Given the description of an element on the screen output the (x, y) to click on. 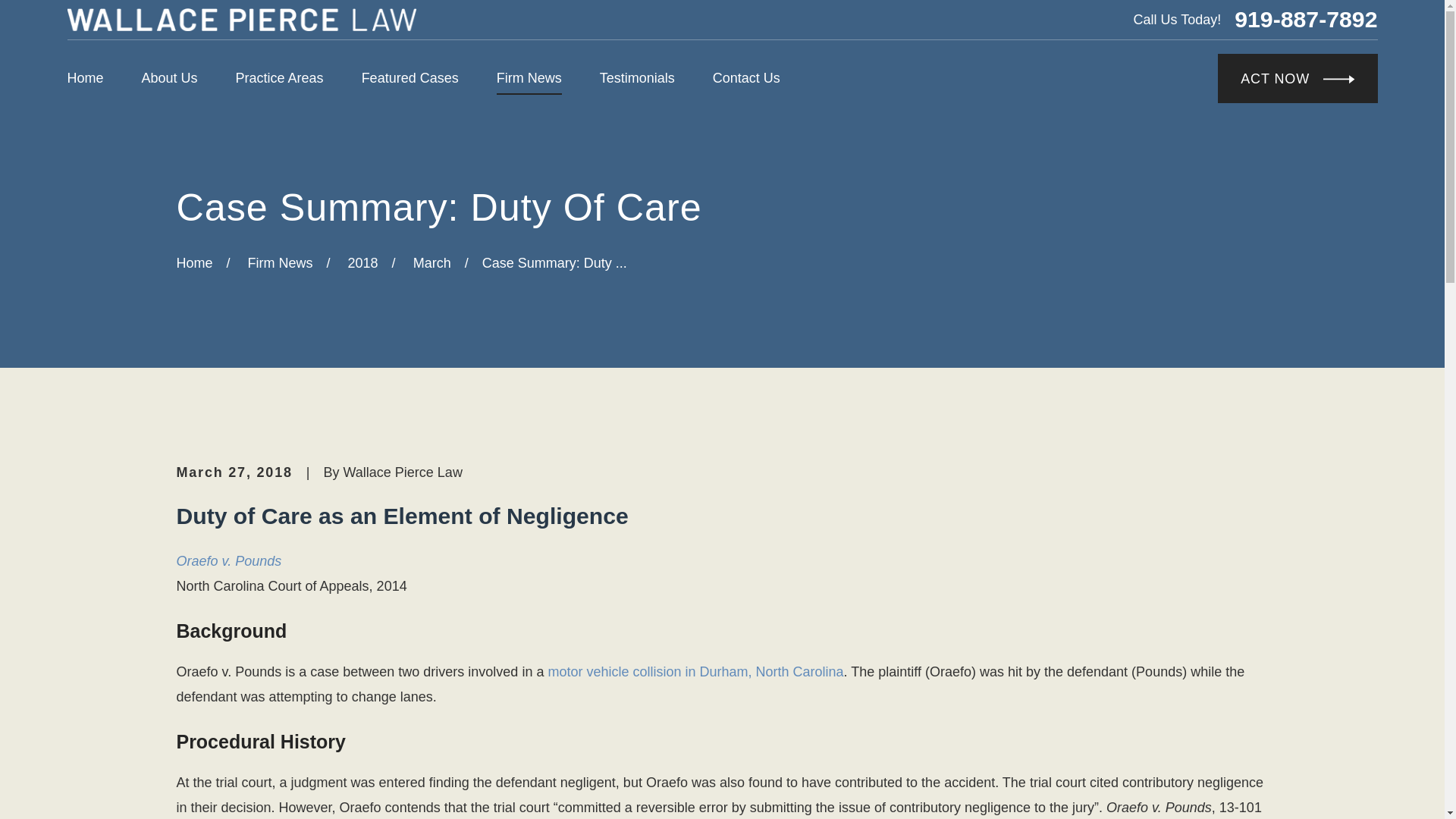
919-887-7892 (1305, 19)
Home (240, 19)
About Us (169, 78)
Featured Cases (409, 78)
Firm News (529, 78)
Practice Areas (279, 78)
Go Home (194, 263)
